Given the description of an element on the screen output the (x, y) to click on. 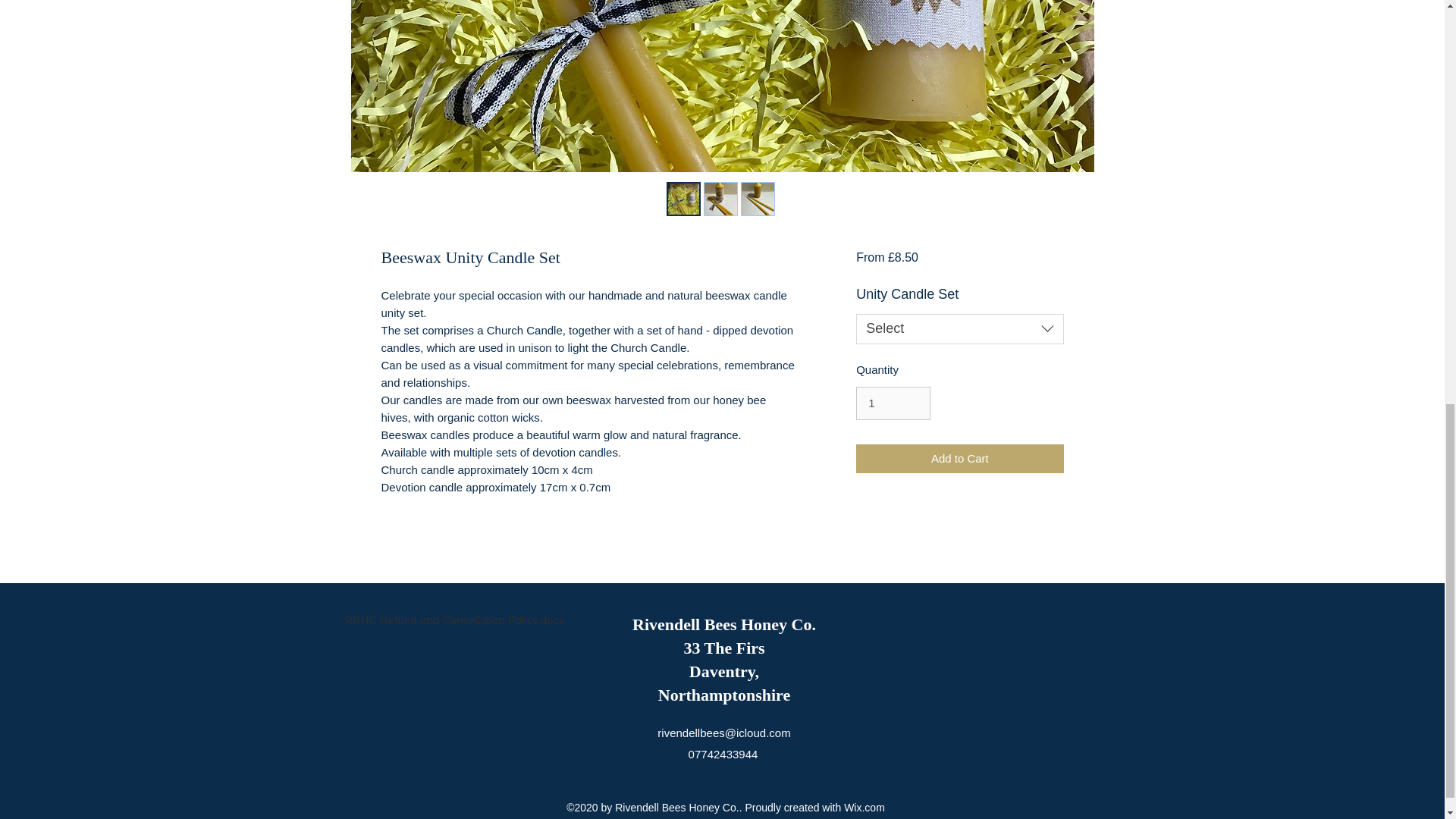
RBHC Refund and Cancellation Policy.docx (453, 607)
Rivendell Bees Honey Co. (723, 624)
Add to Cart (959, 459)
1 (893, 403)
RBHC Refund and Cancellation Policy.docx (453, 607)
Select (959, 328)
